Given the description of an element on the screen output the (x, y) to click on. 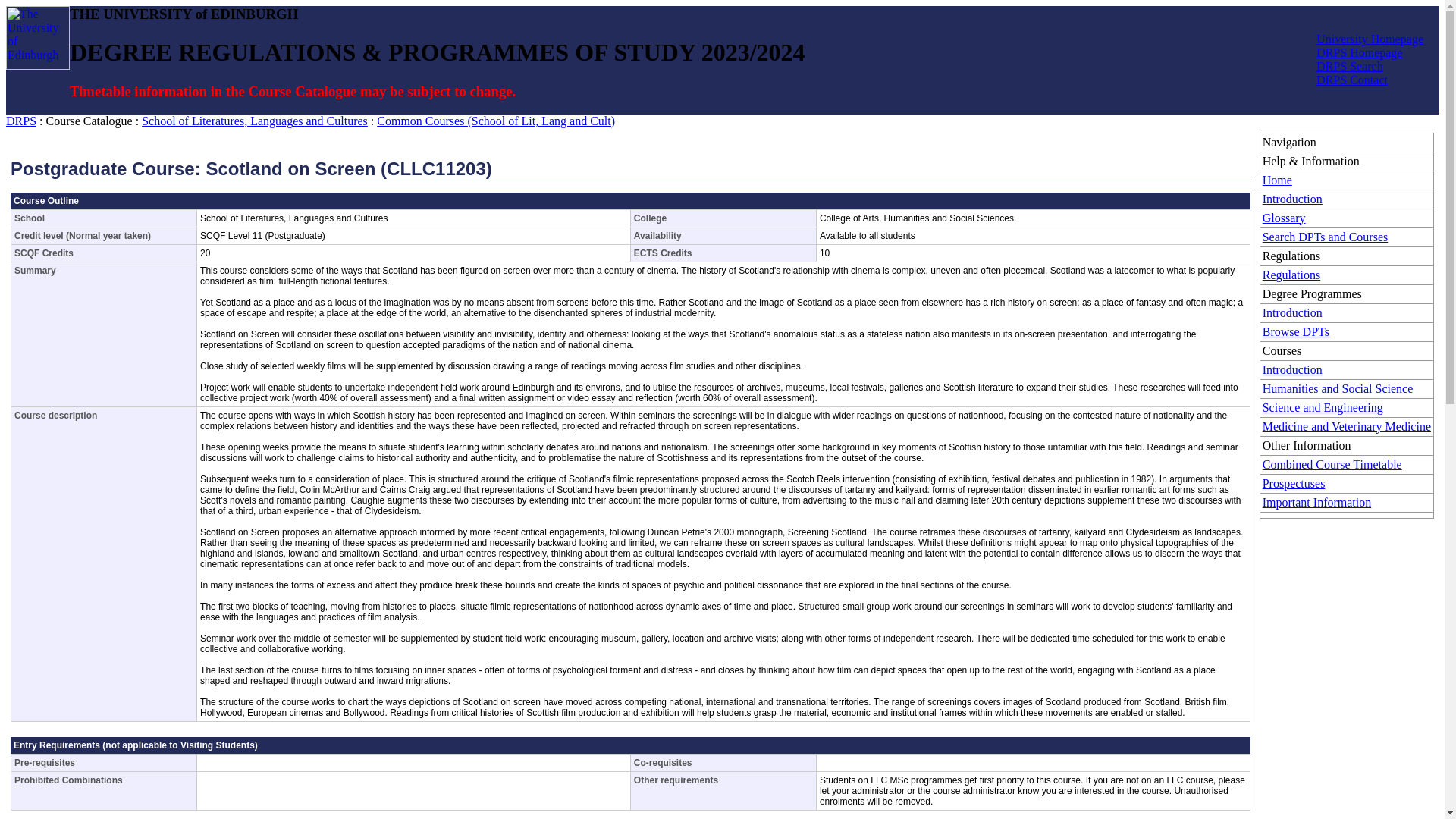
DRPS (20, 120)
DRPS Contact (1351, 79)
Prospectuses (1293, 482)
Browse DPTs (1295, 331)
Introduction (1292, 198)
Search DPTs and Courses (1325, 236)
School of Literatures, Languages and Cultures (254, 120)
Introduction (1292, 312)
Introduction (1292, 369)
Humanities and Social Science (1337, 388)
